Given the description of an element on the screen output the (x, y) to click on. 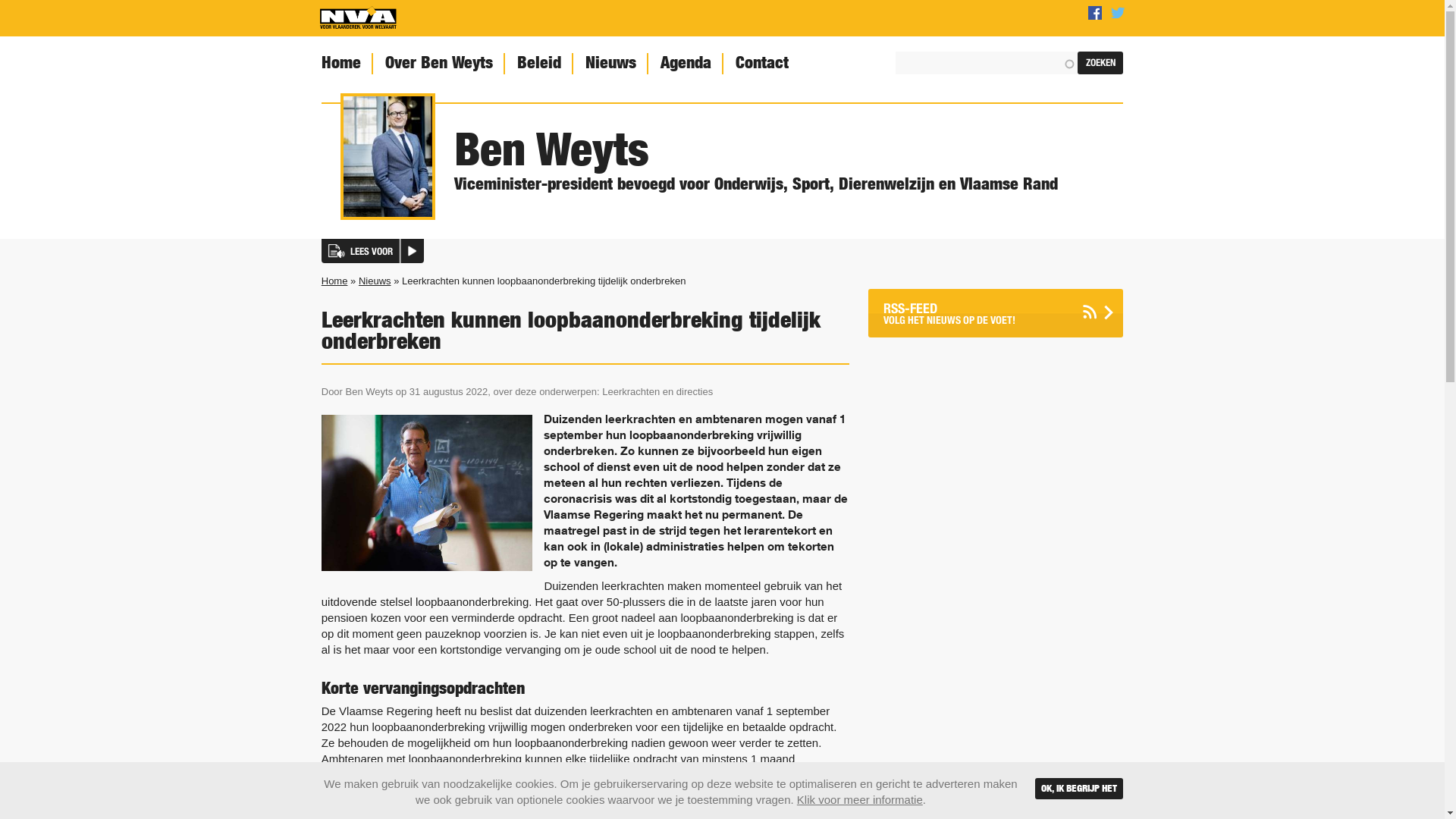
LEES VOOR Element type: text (372, 250)
Home Element type: text (340, 63)
Klik voor meer informatie Element type: text (859, 799)
RSS-FEED
VOLG HET NIEUWS OP DE VOET! Element type: text (995, 312)
Nieuws Element type: text (608, 63)
Home Element type: text (334, 279)
Beleid Element type: text (537, 63)
Agenda Element type: text (683, 63)
OK, IK BEGRIJP HET Element type: text (1079, 788)
Geef de woorden op waarnaar u wilt zoeken. Element type: hover (986, 62)
Home Element type: hover (357, 17)
Zoeken Element type: text (1100, 62)
Over Ben Weyts Element type: text (437, 63)
(c) iStock Element type: hover (427, 492)
Percentage Element type: text (32, 10)
Contact Element type: text (760, 63)
Nieuws Element type: text (374, 279)
